Given the description of an element on the screen output the (x, y) to click on. 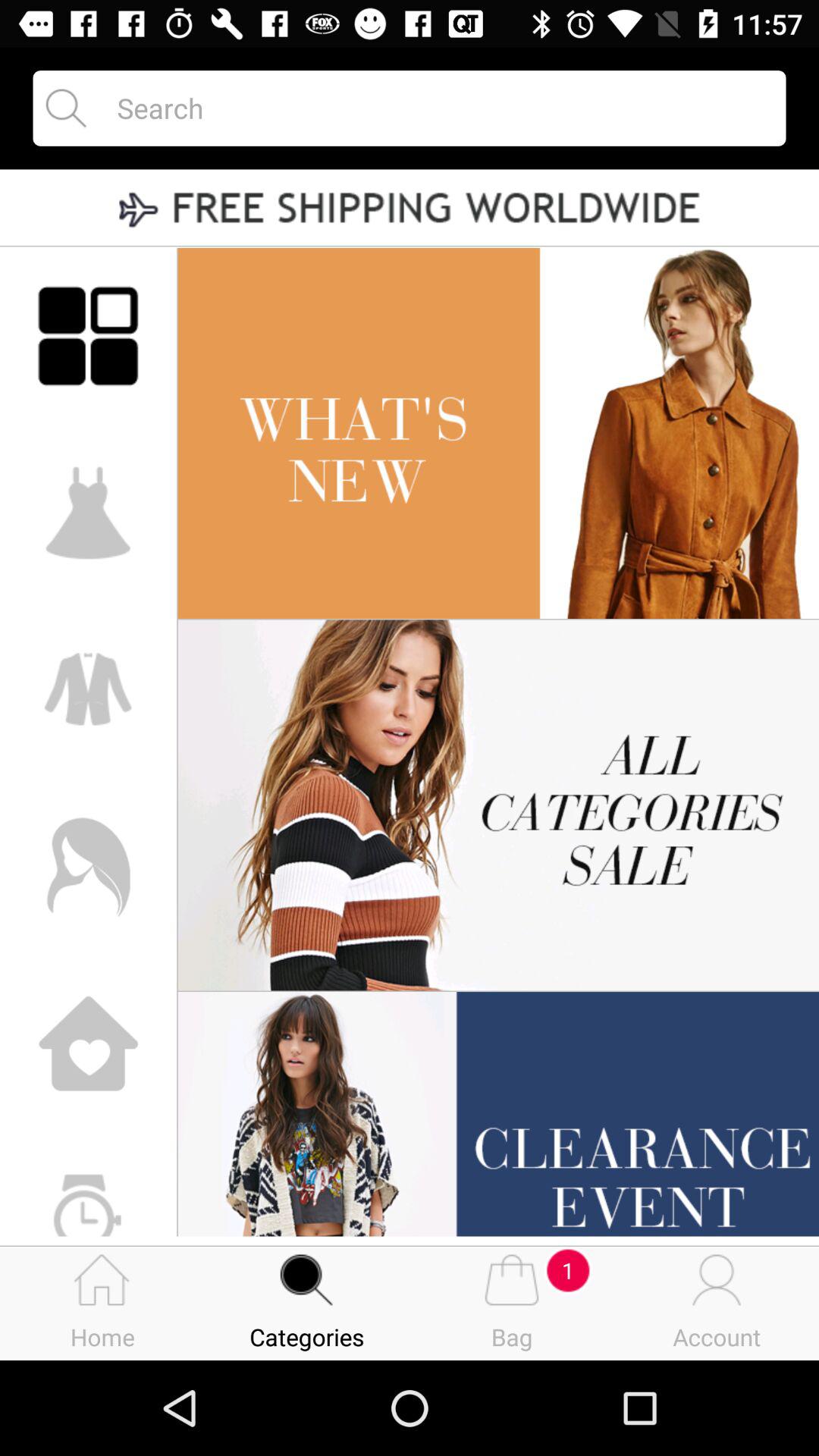
go to search (437, 108)
